Given the description of an element on the screen output the (x, y) to click on. 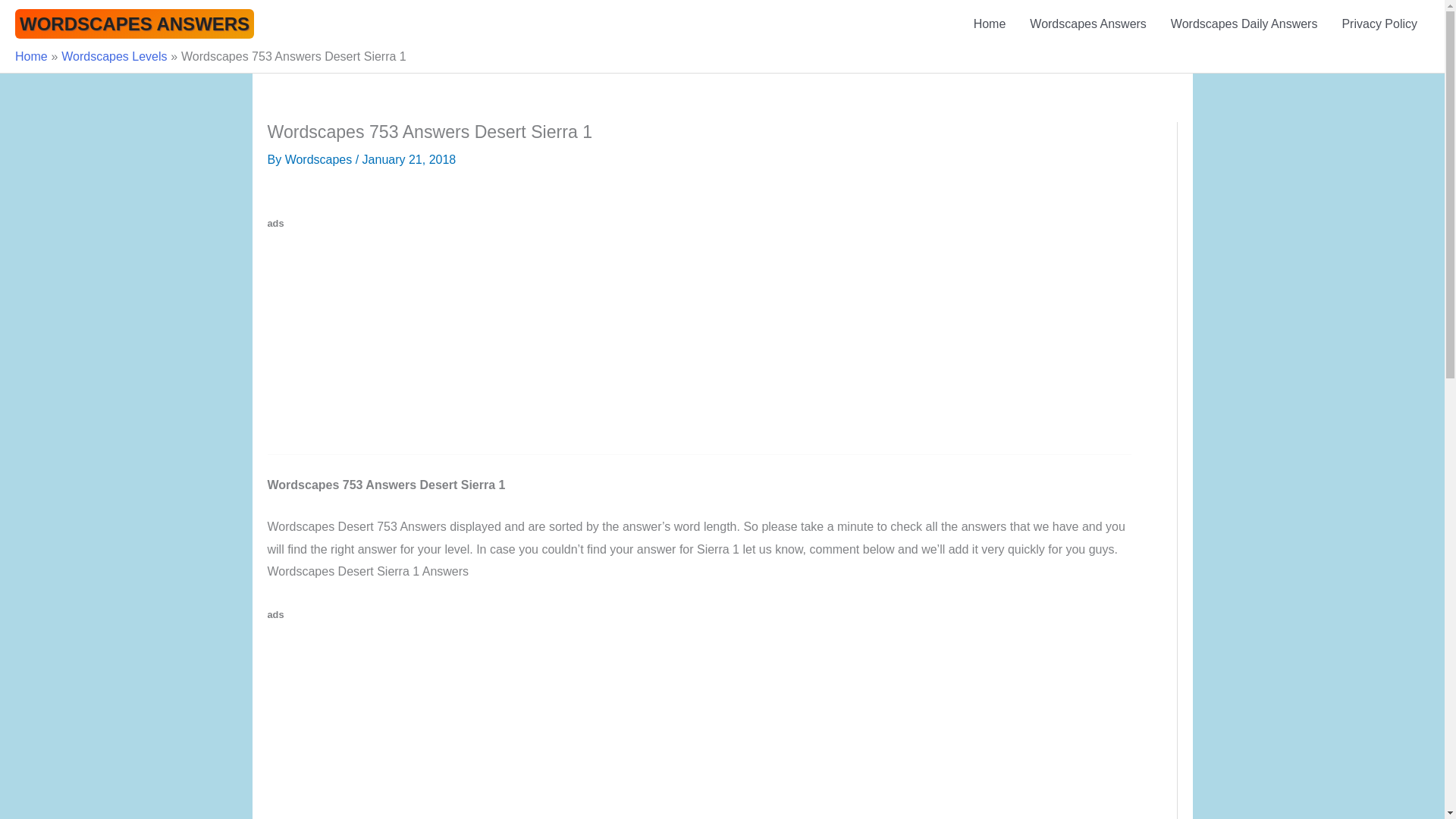
Wordscapes Answers (1087, 24)
Advertisement (393, 721)
Wordscapes Daily Answers (1244, 24)
View all posts by Wordscapes (320, 159)
WORDSCAPES ANSWERS (133, 23)
Advertisement (393, 340)
Privacy Policy (1379, 24)
Home (988, 24)
Home (31, 56)
Wordscapes (320, 159)
Wordscapes Levels (114, 56)
